Given the description of an element on the screen output the (x, y) to click on. 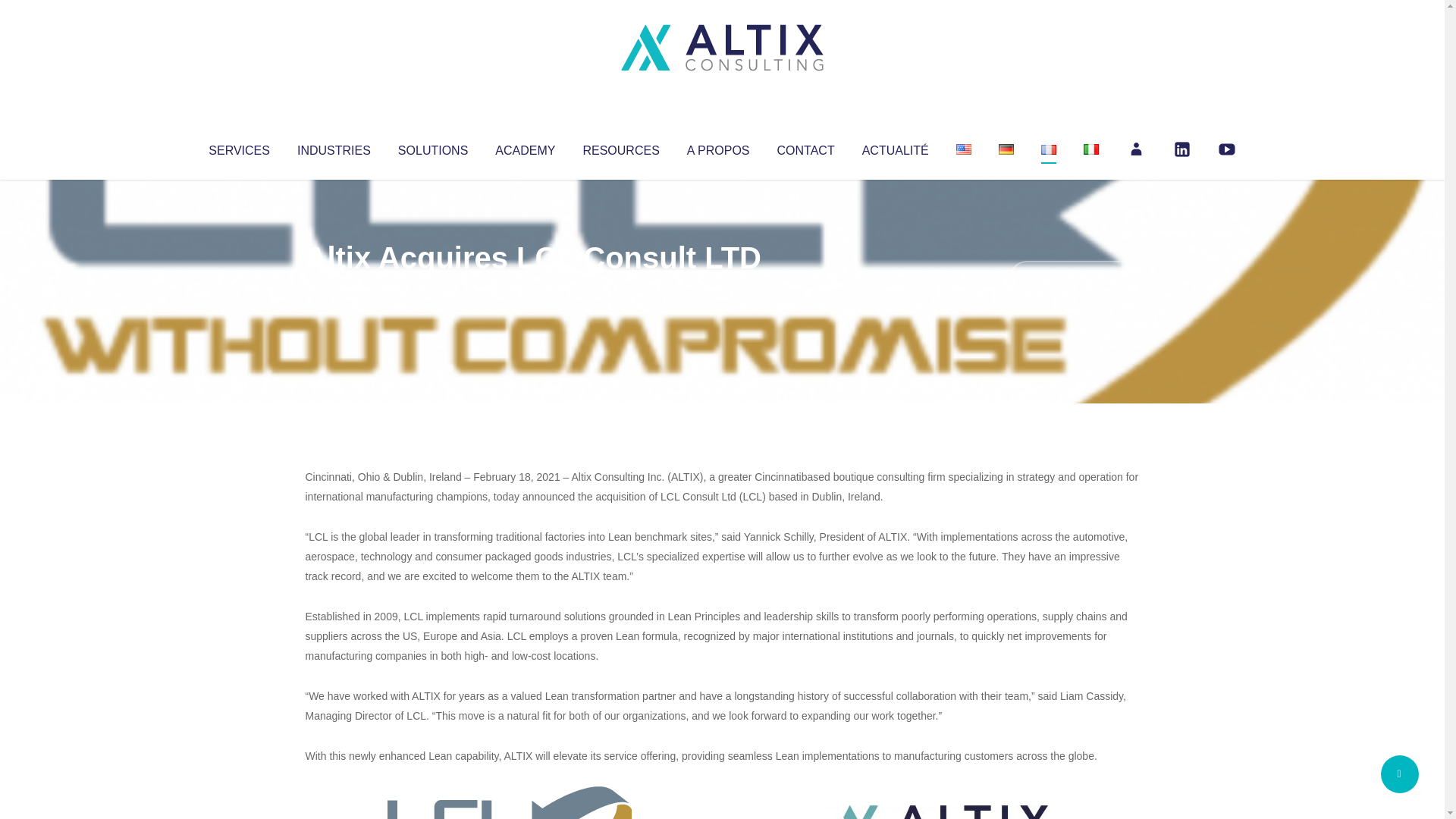
Uncategorized (530, 287)
No Comments (1073, 278)
SERVICES (238, 146)
ACADEMY (524, 146)
SOLUTIONS (432, 146)
RESOURCES (620, 146)
INDUSTRIES (334, 146)
Articles par Altix (333, 287)
Altix (333, 287)
A PROPOS (718, 146)
